Given the description of an element on the screen output the (x, y) to click on. 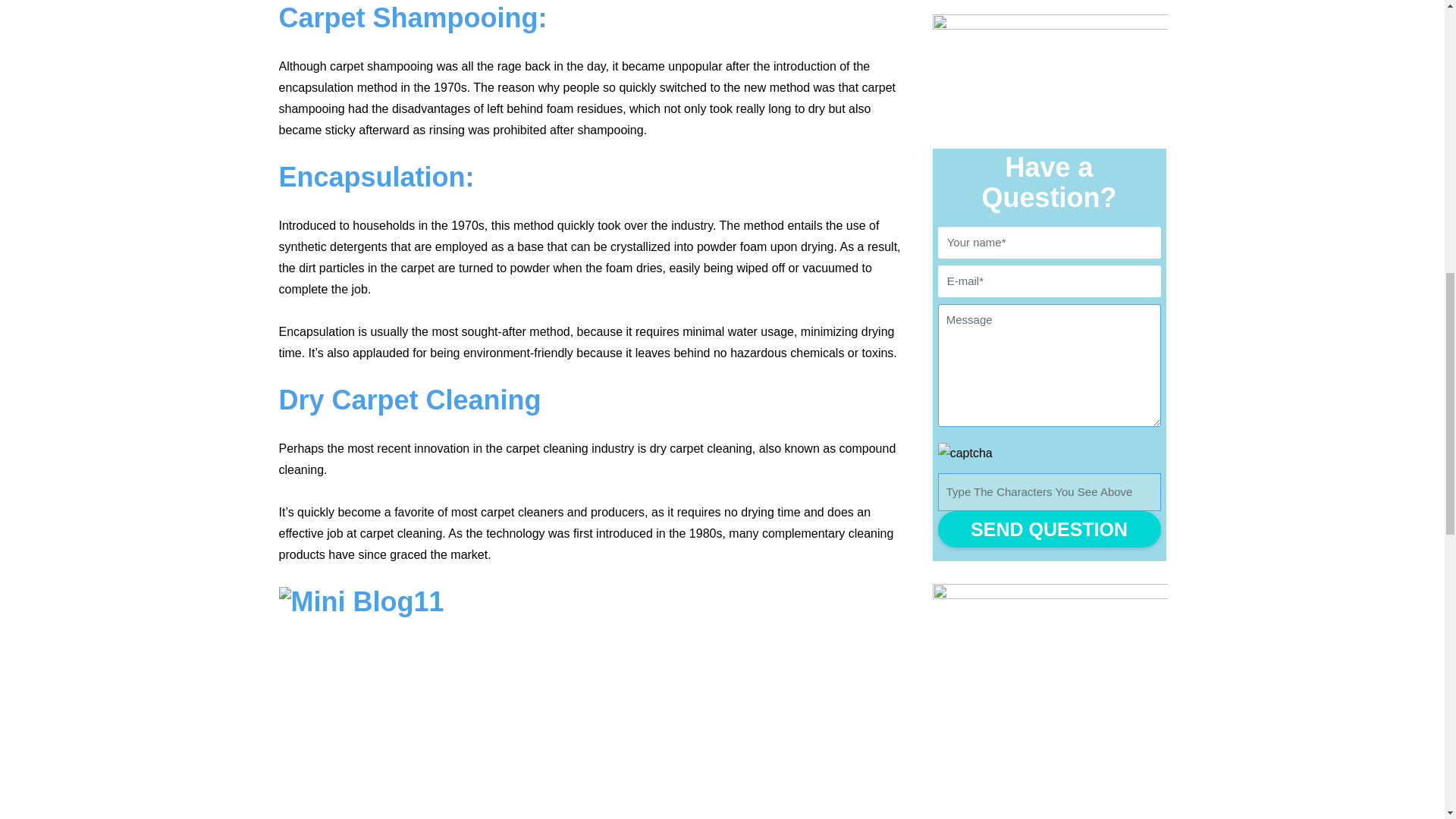
Send Question (1048, 529)
